Given the description of an element on the screen output the (x, y) to click on. 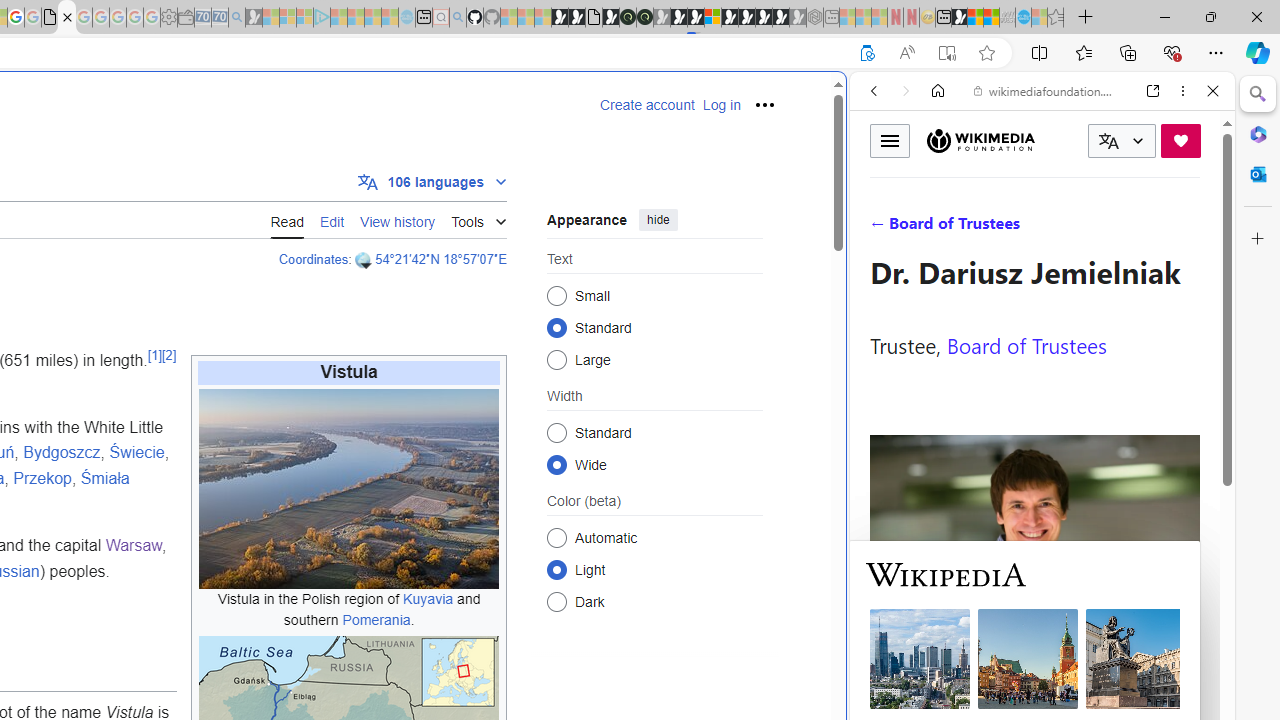
[1] (154, 354)
Navy Quest (1007, 17)
Read (287, 219)
CURRENT LANGUAGE: (1121, 141)
View history (397, 219)
Close Outlook pane (1258, 174)
Personal tools (764, 104)
Cheap Car Rentals - Save70.com - Sleeping (219, 17)
Board of Trustees (1026, 344)
Bydgoszcz (62, 453)
